Given the description of an element on the screen output the (x, y) to click on. 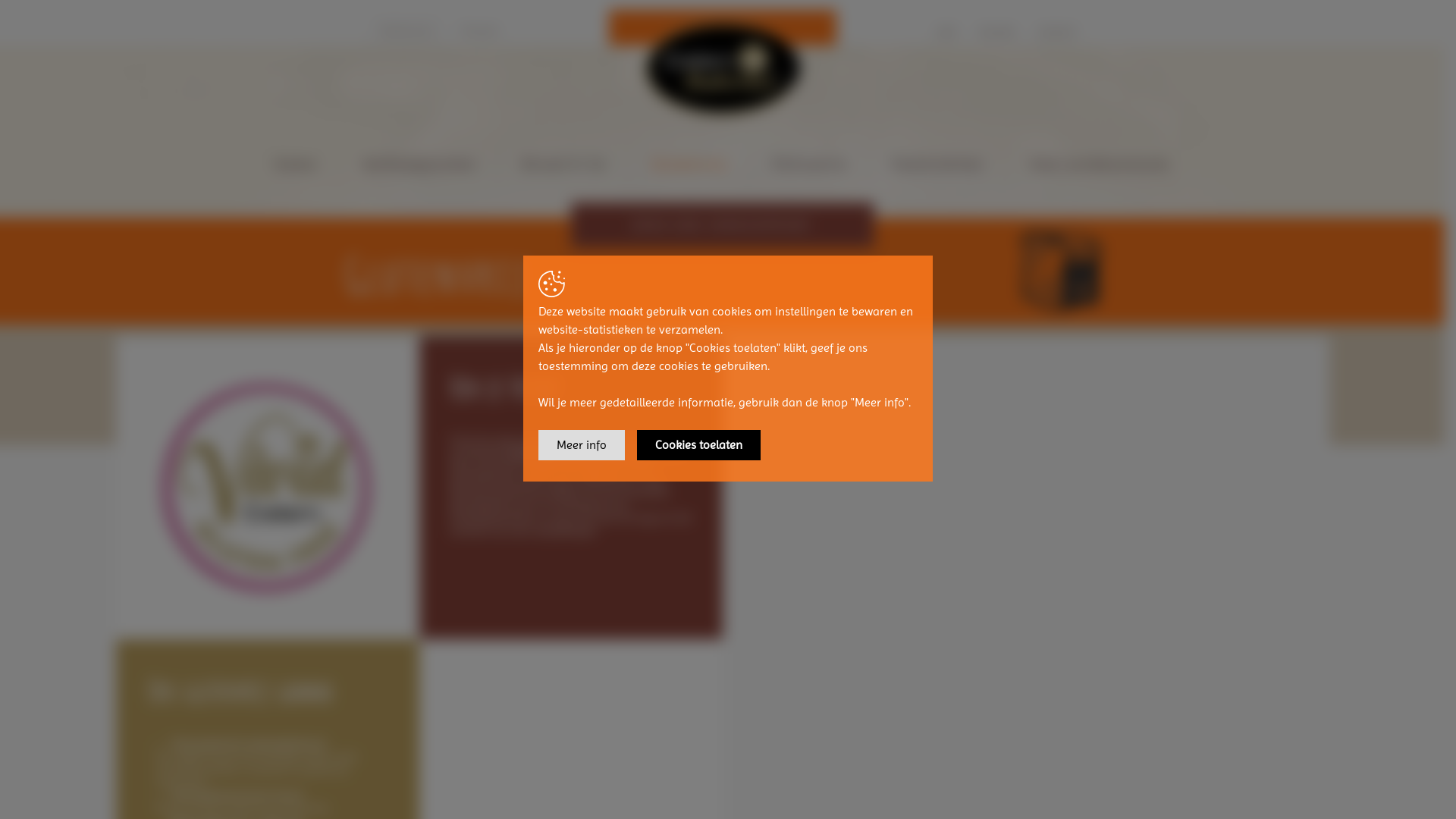
NIEUWS Element type: text (996, 31)
CONTACT Element type: text (1056, 31)
Glutenvrij Element type: text (688, 163)
Voor professionals Element type: text (1100, 163)
ZOEK EEN VERKOOPPUNT Element type: text (721, 224)
Meer info Element type: text (581, 444)
Patisserie Element type: text (809, 163)
Verkooppunten Element type: text (419, 163)
Home Element type: text (295, 163)
JOBS Element type: text (945, 31)
Brood & Zo Element type: text (563, 163)
Nederlands Element type: text (406, 29)
Festiviteiten Element type: text (938, 163)
Cookies toelaten Element type: text (698, 444)
